Given the description of an element on the screen output the (x, y) to click on. 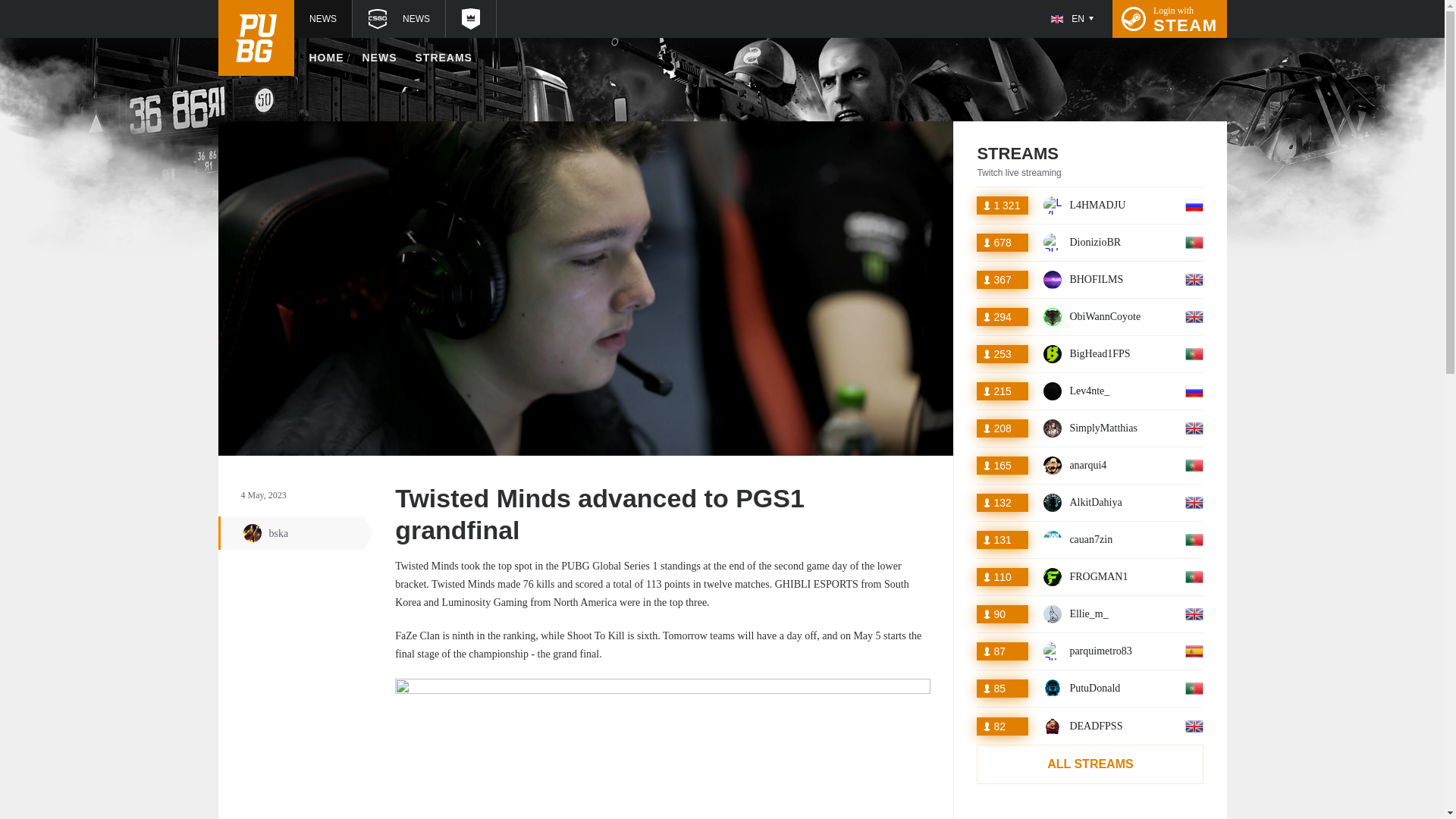
bska (1169, 18)
NEWS (1090, 316)
HOME (1090, 279)
STREAMS (1090, 353)
